Given the description of an element on the screen output the (x, y) to click on. 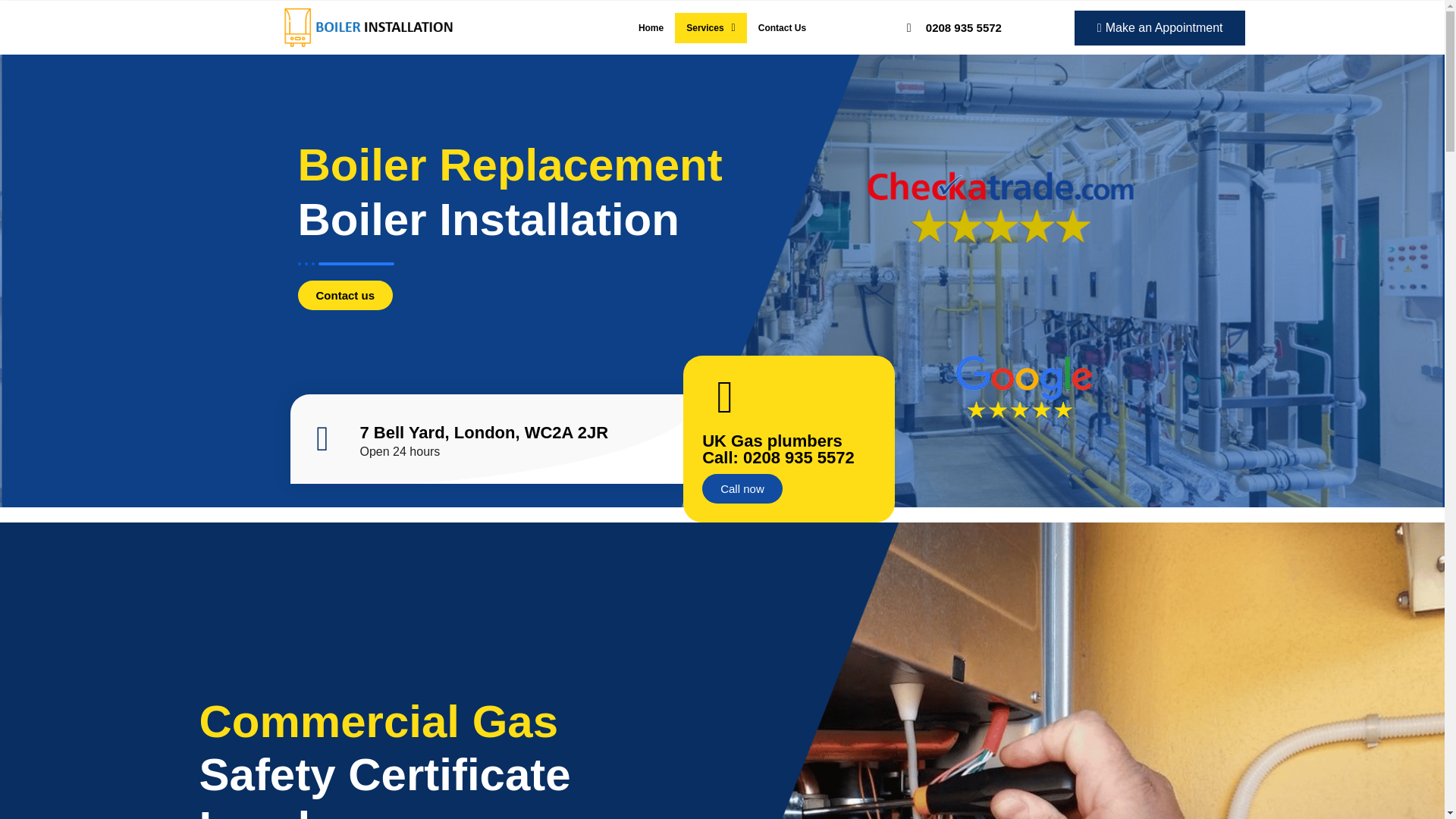
Contact Us (781, 28)
Call now (742, 488)
Make an Appointment (1160, 27)
Home (651, 28)
Services (710, 28)
Contact us (345, 295)
